Given the description of an element on the screen output the (x, y) to click on. 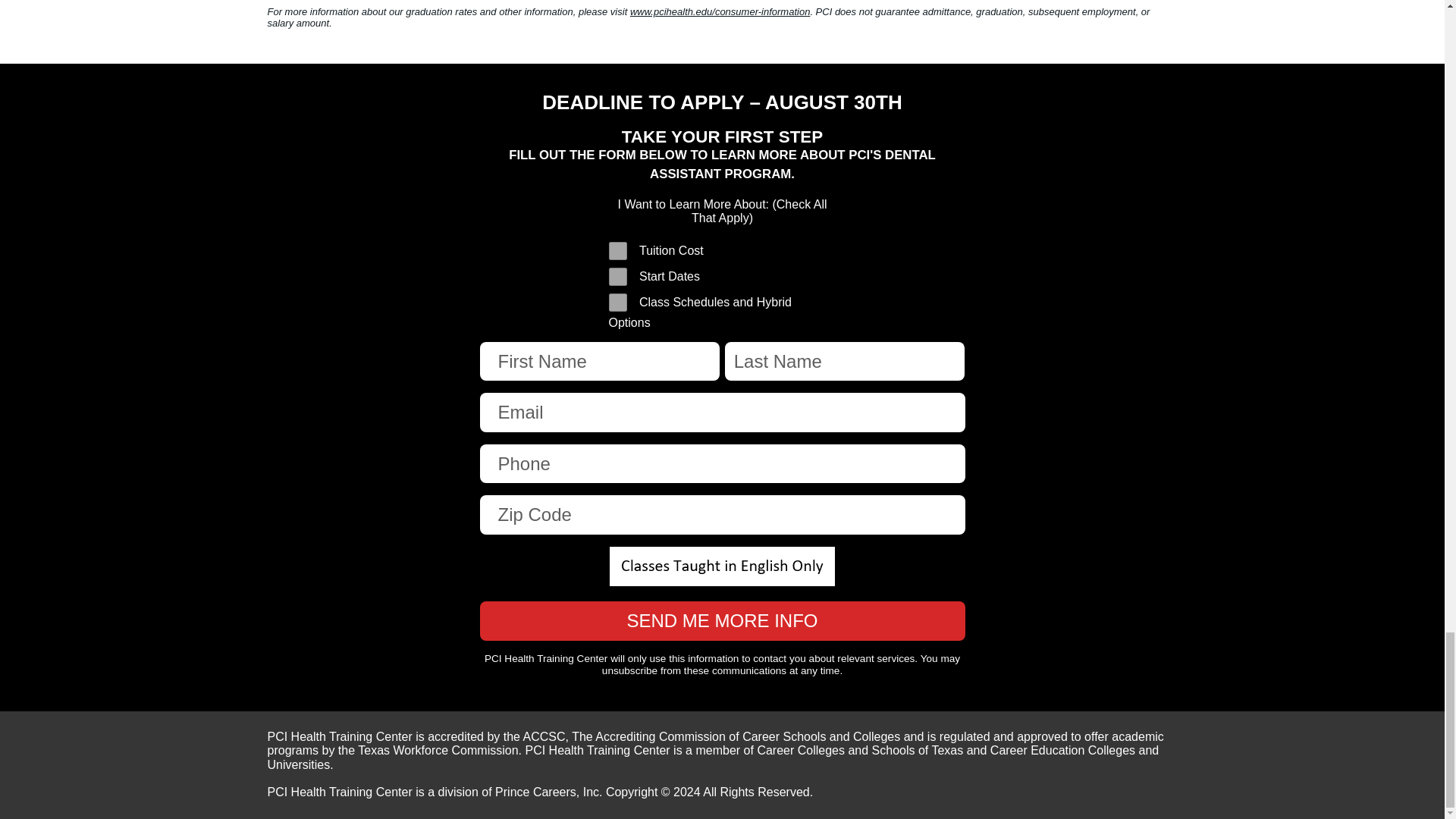
Tuition Cost (617, 250)
Class Schedules and Hybrid Options (617, 302)
SEND ME MORE INFO (721, 620)
Start Dates (617, 276)
SEND ME MORE INFO (721, 620)
